Given the description of an element on the screen output the (x, y) to click on. 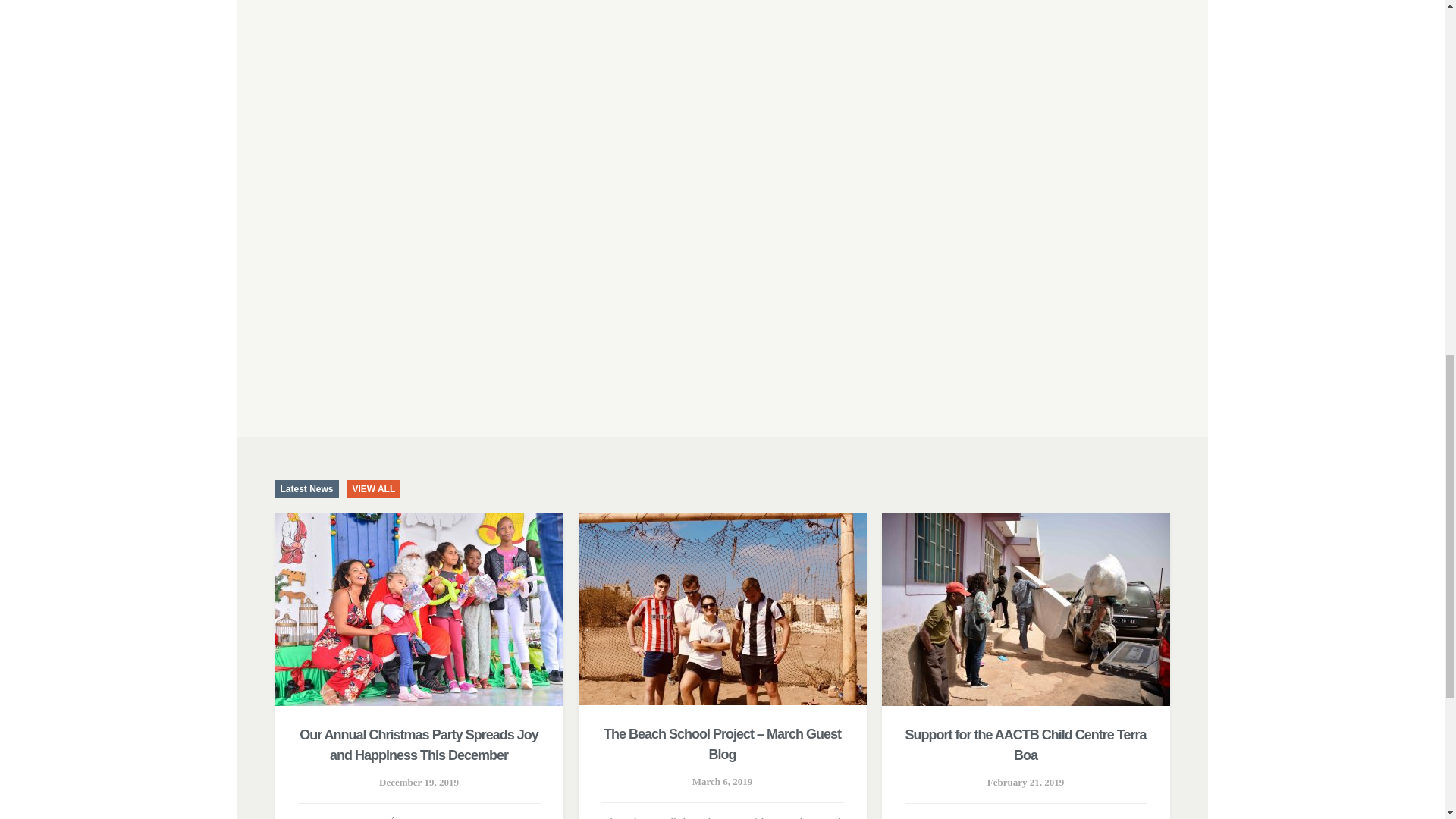
VIEW ALL (373, 488)
Support for the AACTB Child Centre Terra Boa (1025, 744)
